Given the description of an element on the screen output the (x, y) to click on. 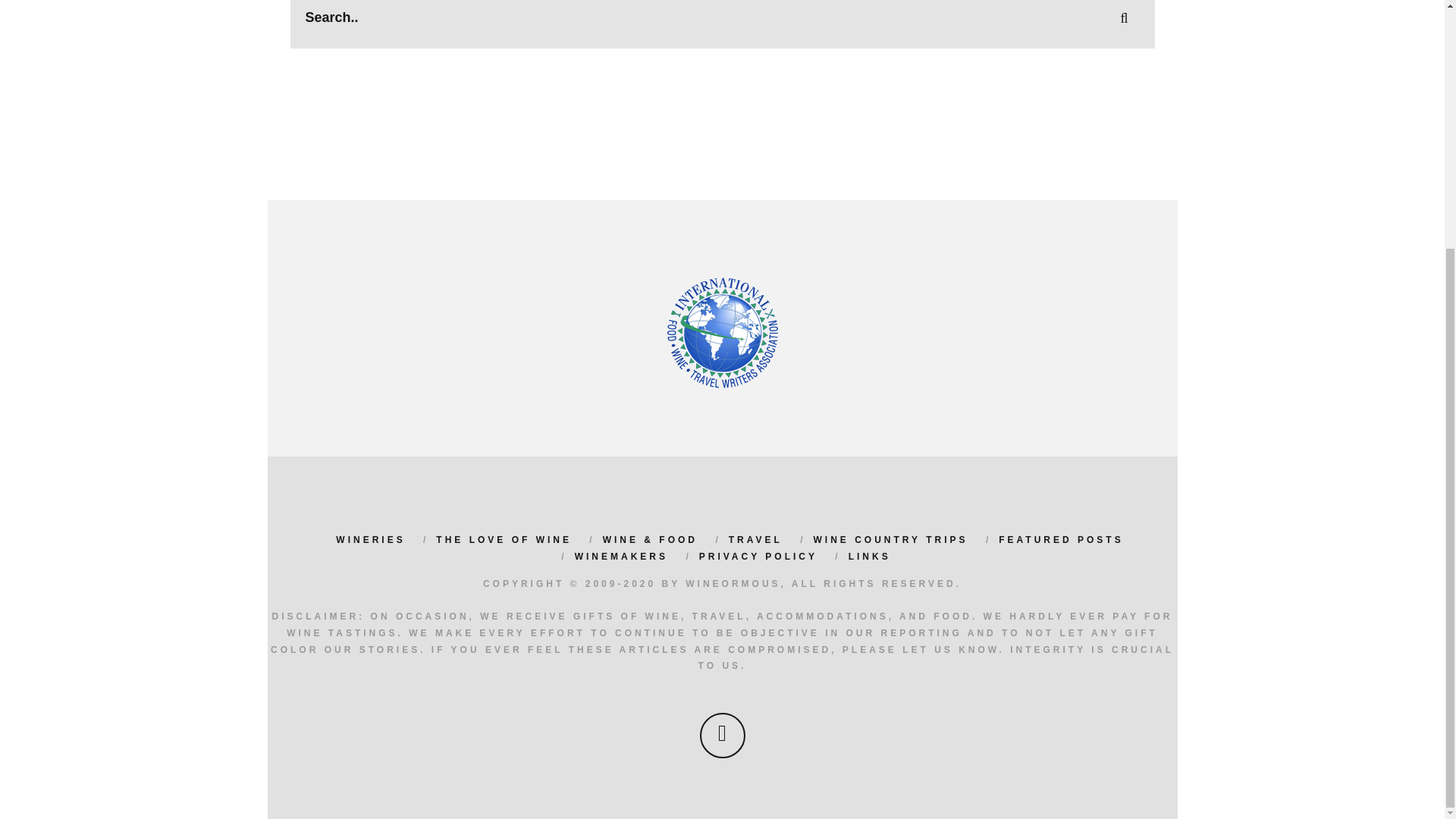
WINEMAKERS (621, 556)
THE LOVE OF WINE (503, 539)
LINKS (869, 556)
Log In (721, 61)
TRAVEL (756, 539)
FEATURED POSTS (1060, 539)
PRIVACY POLICY (757, 556)
WINE COUNTRY TRIPS (890, 539)
WINERIES (370, 539)
